Given the description of an element on the screen output the (x, y) to click on. 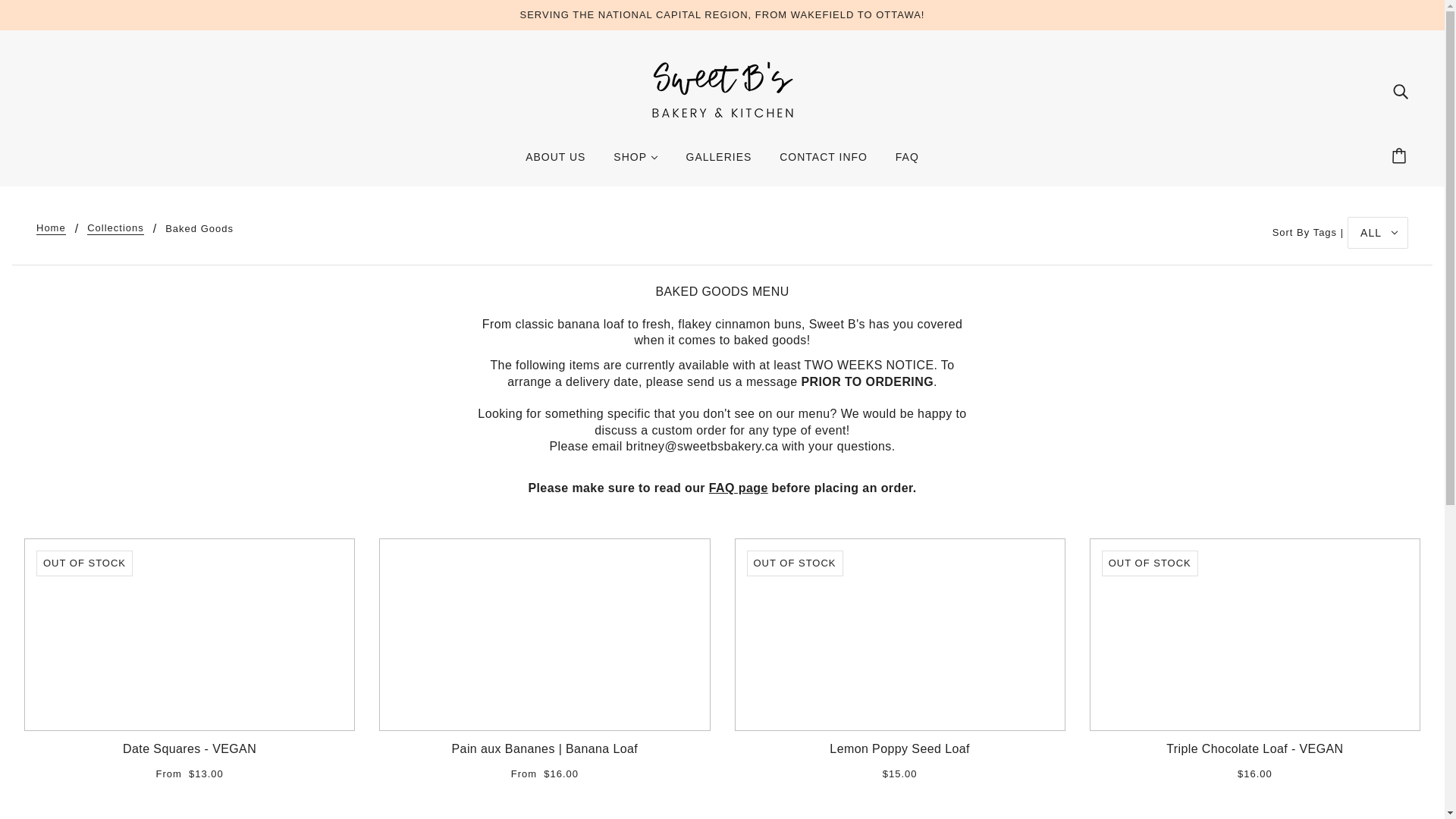
Home (50, 228)
CONTACT INFO (823, 162)
SHOP (635, 162)
FAQ page (738, 487)
ABOUT US (554, 162)
FAQ (907, 162)
Collections (115, 228)
FAQ (738, 487)
GALLERIES (719, 162)
Sweet B's Bakery (722, 89)
